Given the description of an element on the screen output the (x, y) to click on. 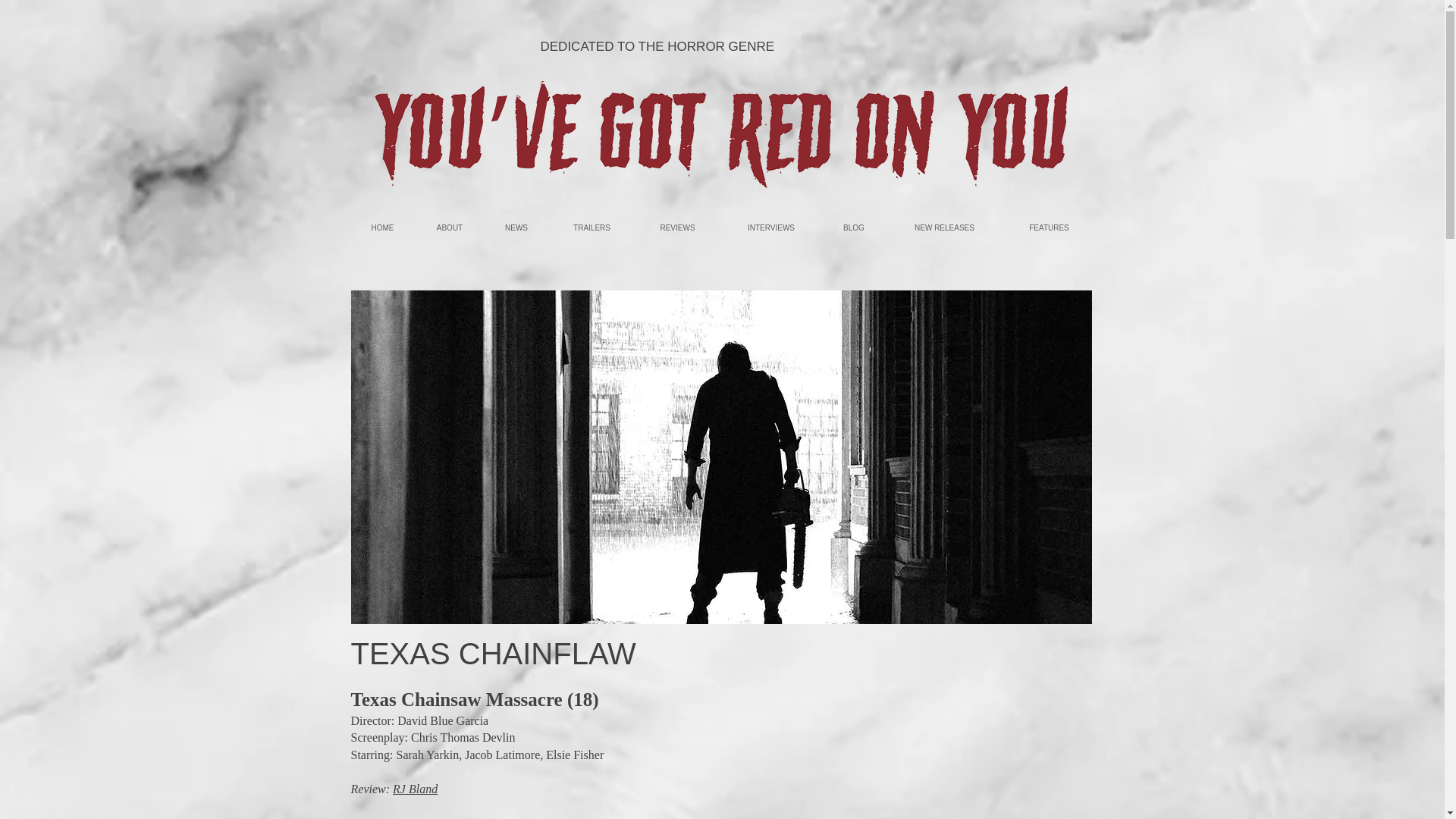
HOME (381, 228)
INTERVIEWS (770, 228)
NEWS (516, 228)
FEATURES (1048, 228)
TRAILERS (590, 228)
REVIEWS (676, 228)
NEW RELEASES (943, 228)
ABOUT (448, 228)
BLOG (854, 228)
